Given the description of an element on the screen output the (x, y) to click on. 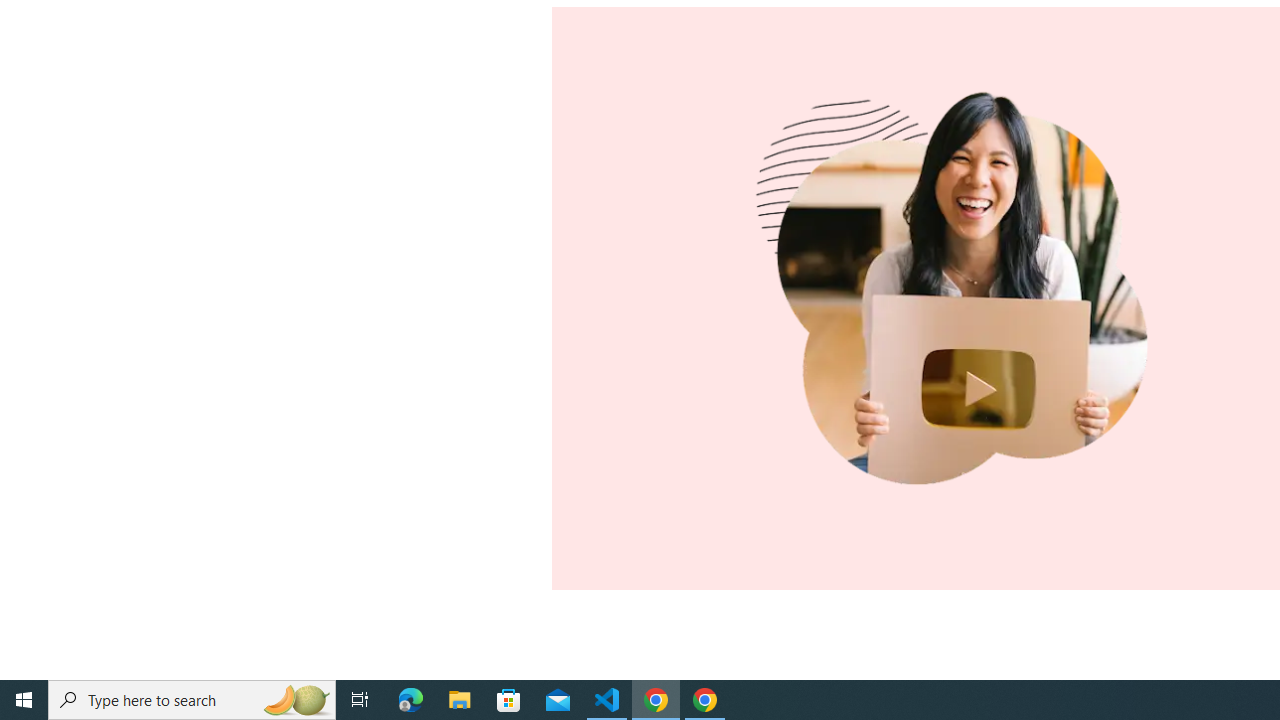
10 years of Creator Awards (961, 298)
